Given the description of an element on the screen output the (x, y) to click on. 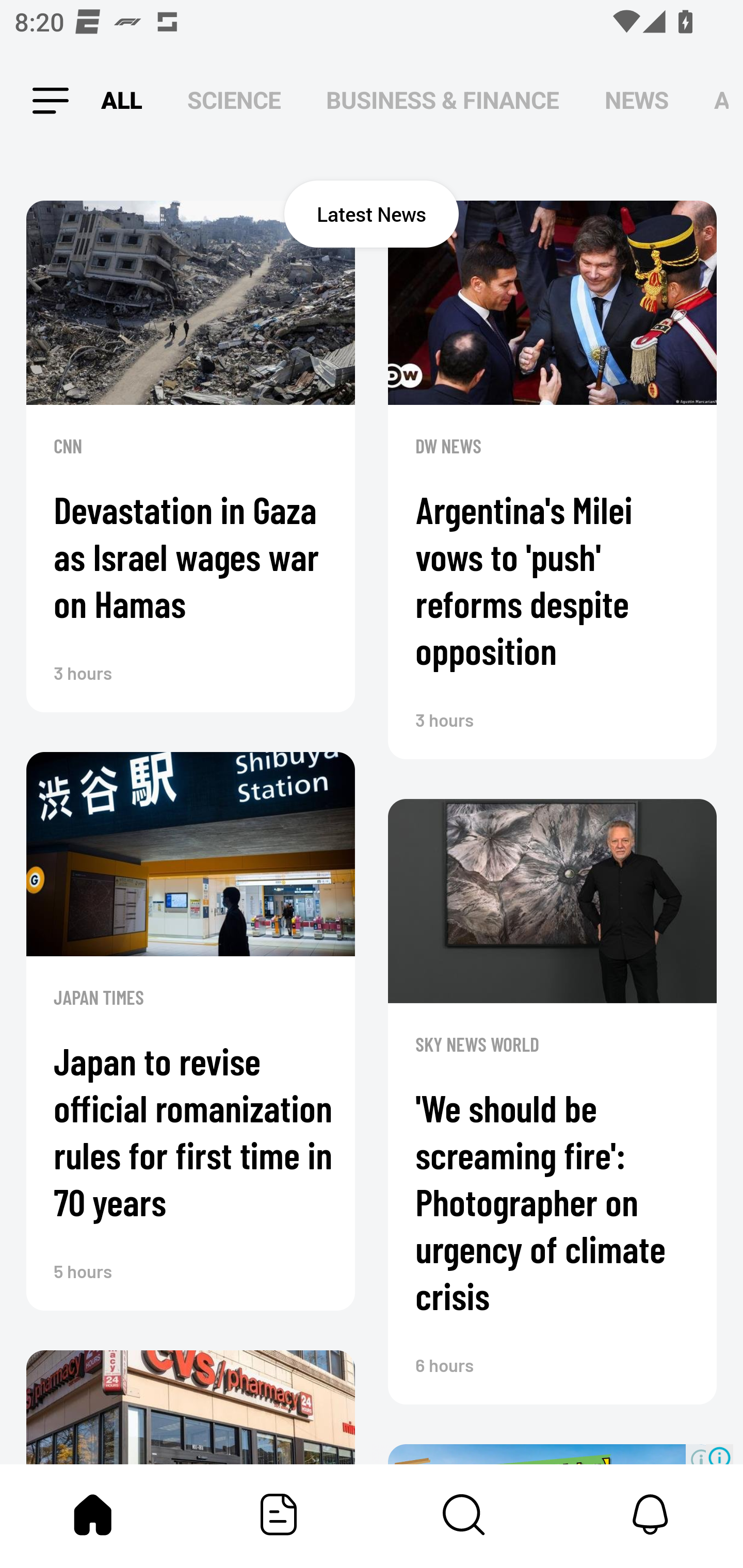
Leading Icon (42, 101)
SCIENCE (233, 100)
BUSINESS & FINANCE (442, 100)
NEWS (636, 100)
Latest News (371, 213)
Featured (278, 1514)
Content Store (464, 1514)
Notifications (650, 1514)
